Given the description of an element on the screen output the (x, y) to click on. 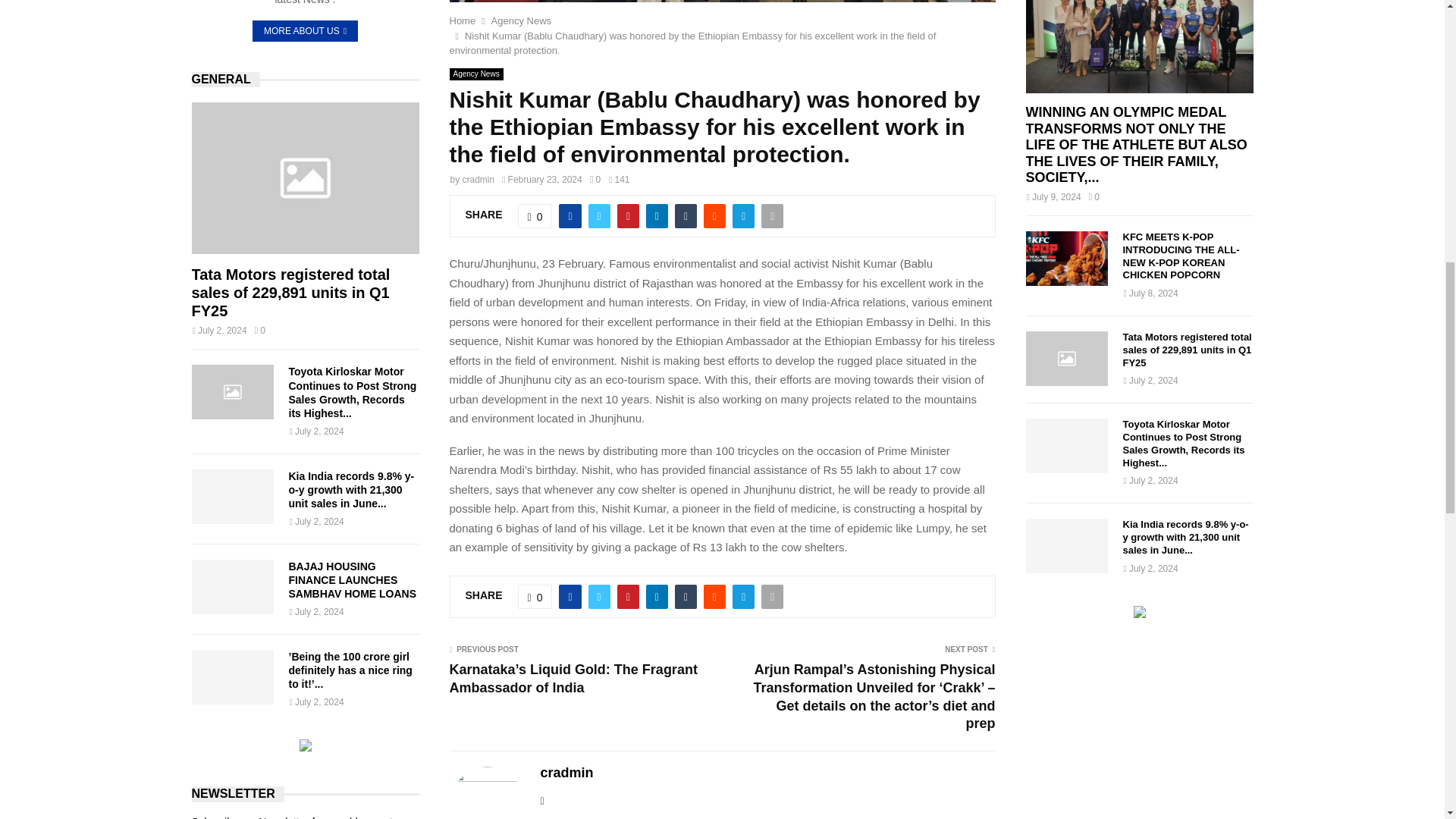
Like (535, 215)
